Given the description of an element on the screen output the (x, y) to click on. 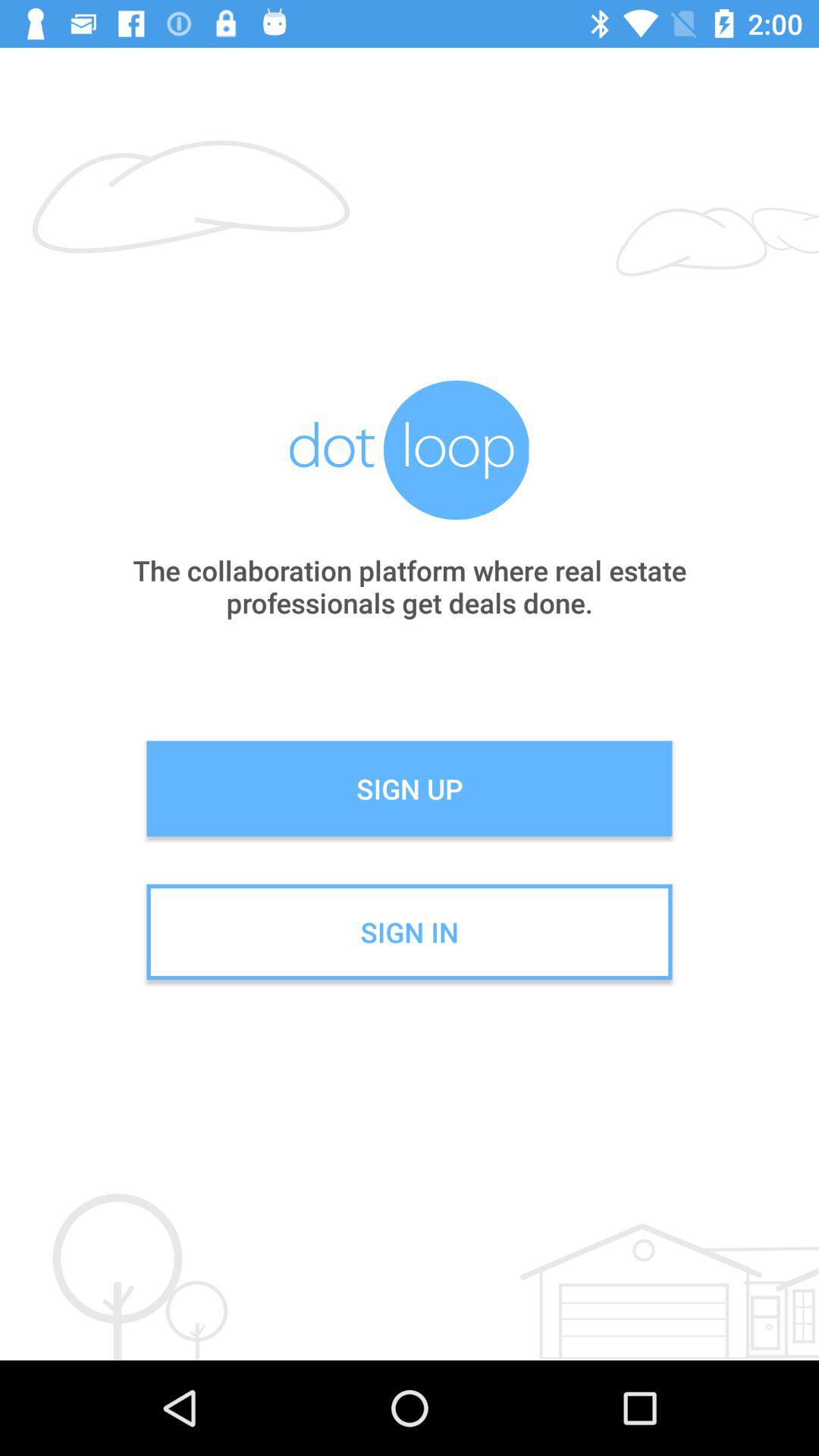
scroll until the sign up (409, 788)
